Given the description of an element on the screen output the (x, y) to click on. 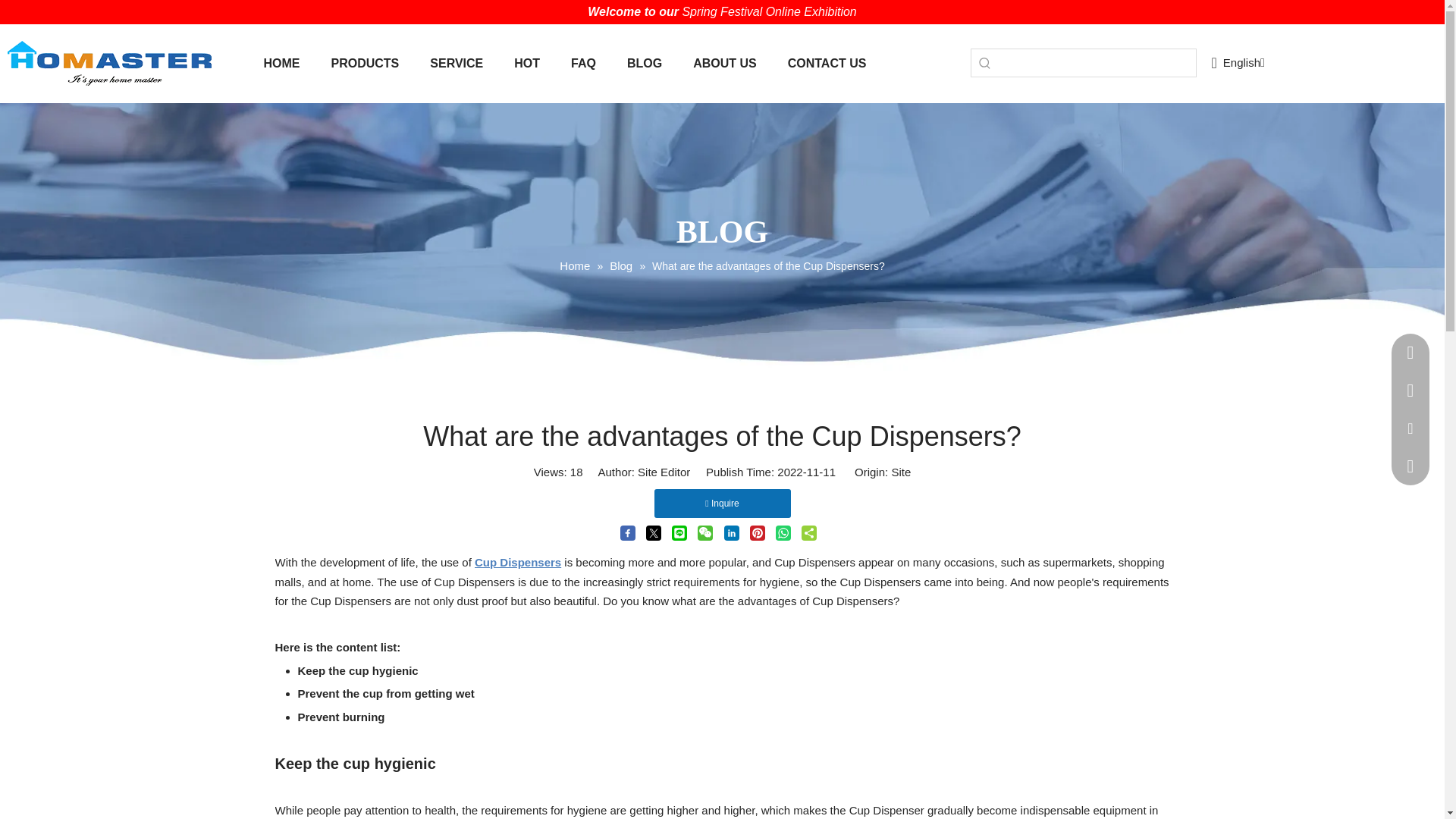
CONTACT US (827, 63)
PRODUCTS (364, 63)
SERVICE (455, 63)
Spring Festival Online Exhibition (768, 11)
HOT (526, 63)
BLOG (644, 63)
FAQ (583, 63)
HOME (281, 63)
ABOUT US (724, 63)
